Given the description of an element on the screen output the (x, y) to click on. 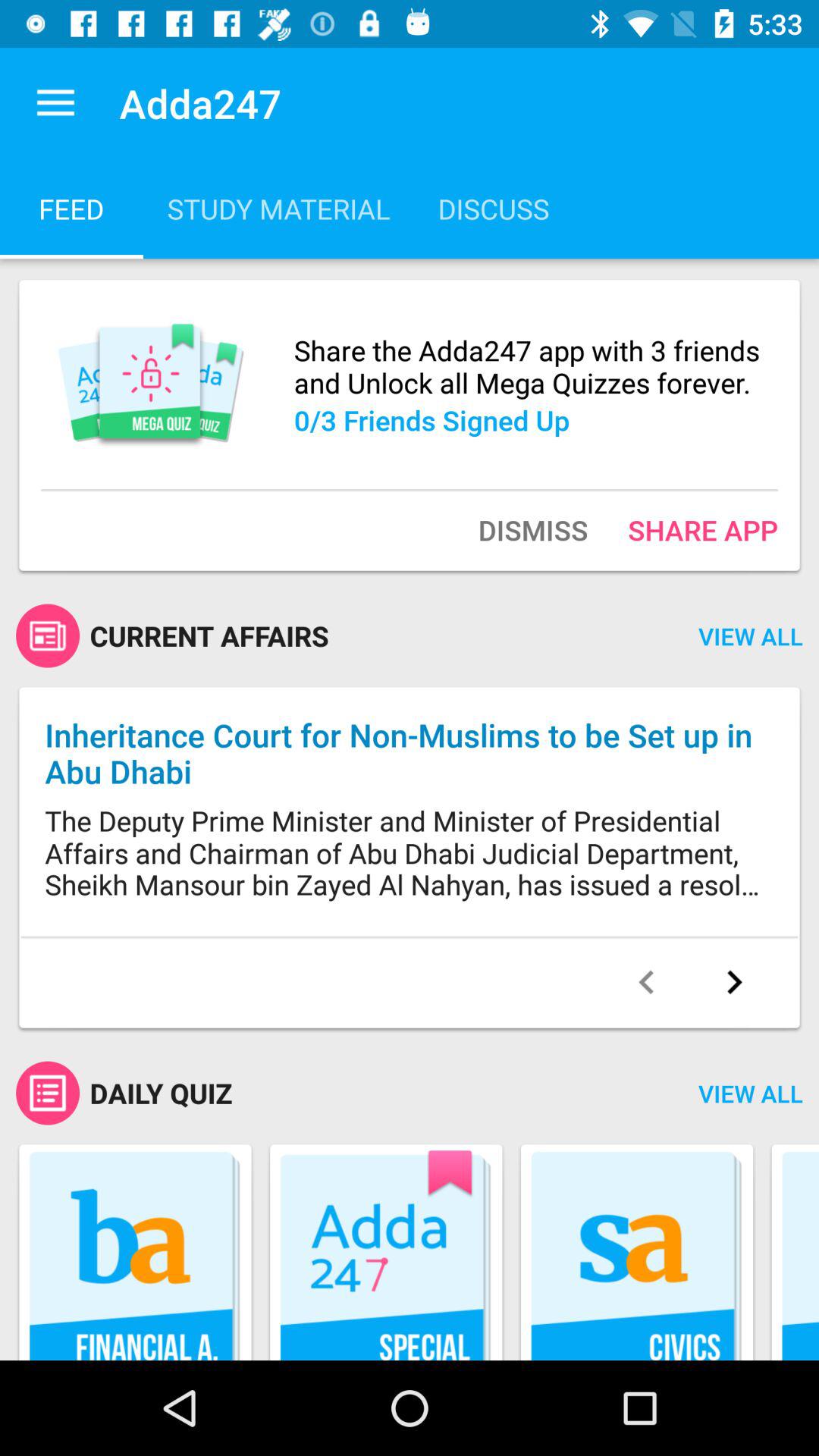
go back one article (646, 982)
